Given the description of an element on the screen output the (x, y) to click on. 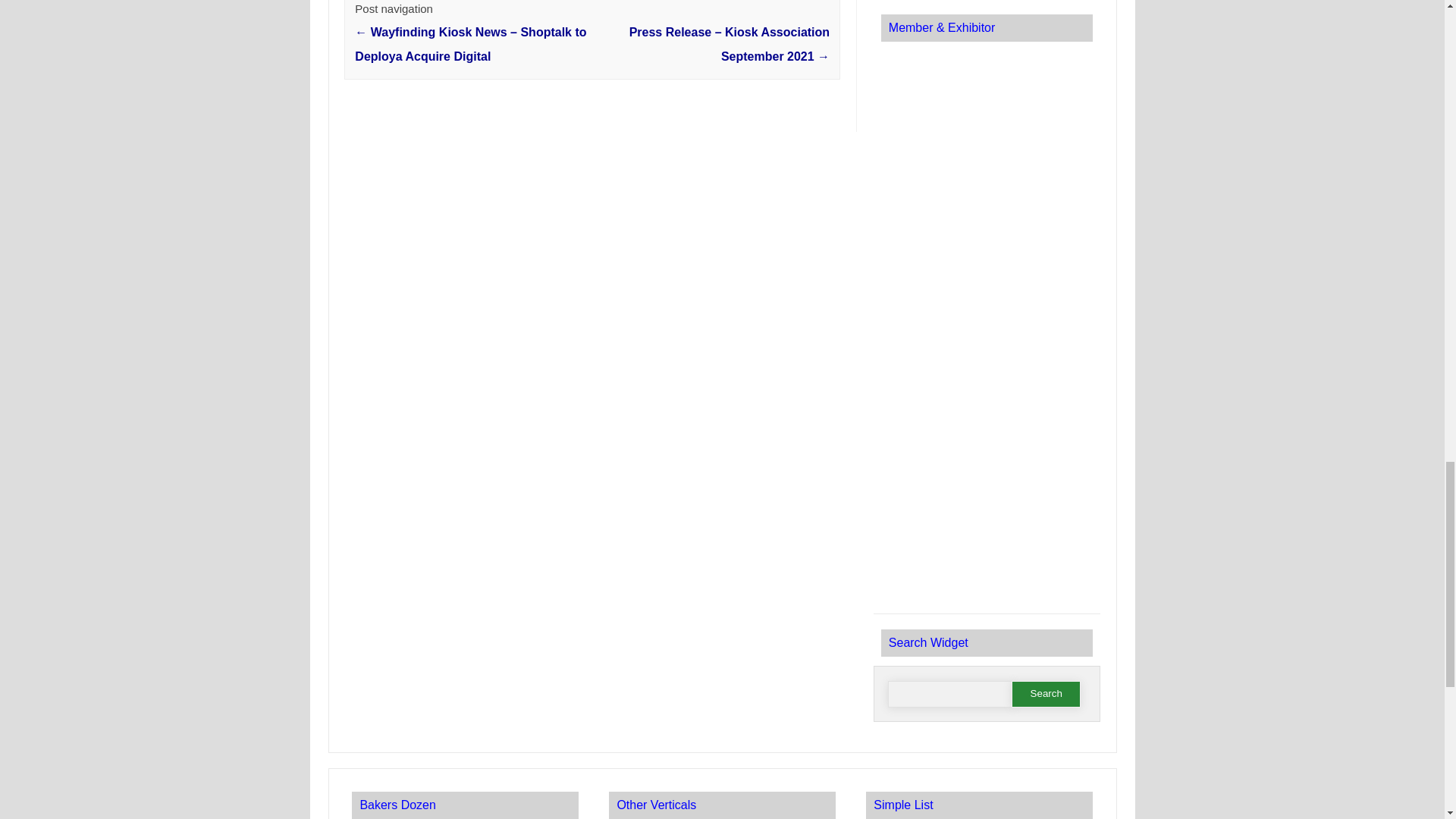
IAAPA Tradeshow kiosk (986, 300)
Healthcare kiosk HIMSS (986, 511)
Search (1045, 693)
Retail Kiosk NRF National Retail Federation (986, 96)
National Restaurant Association Trade Show (986, 193)
